Given the description of an element on the screen output the (x, y) to click on. 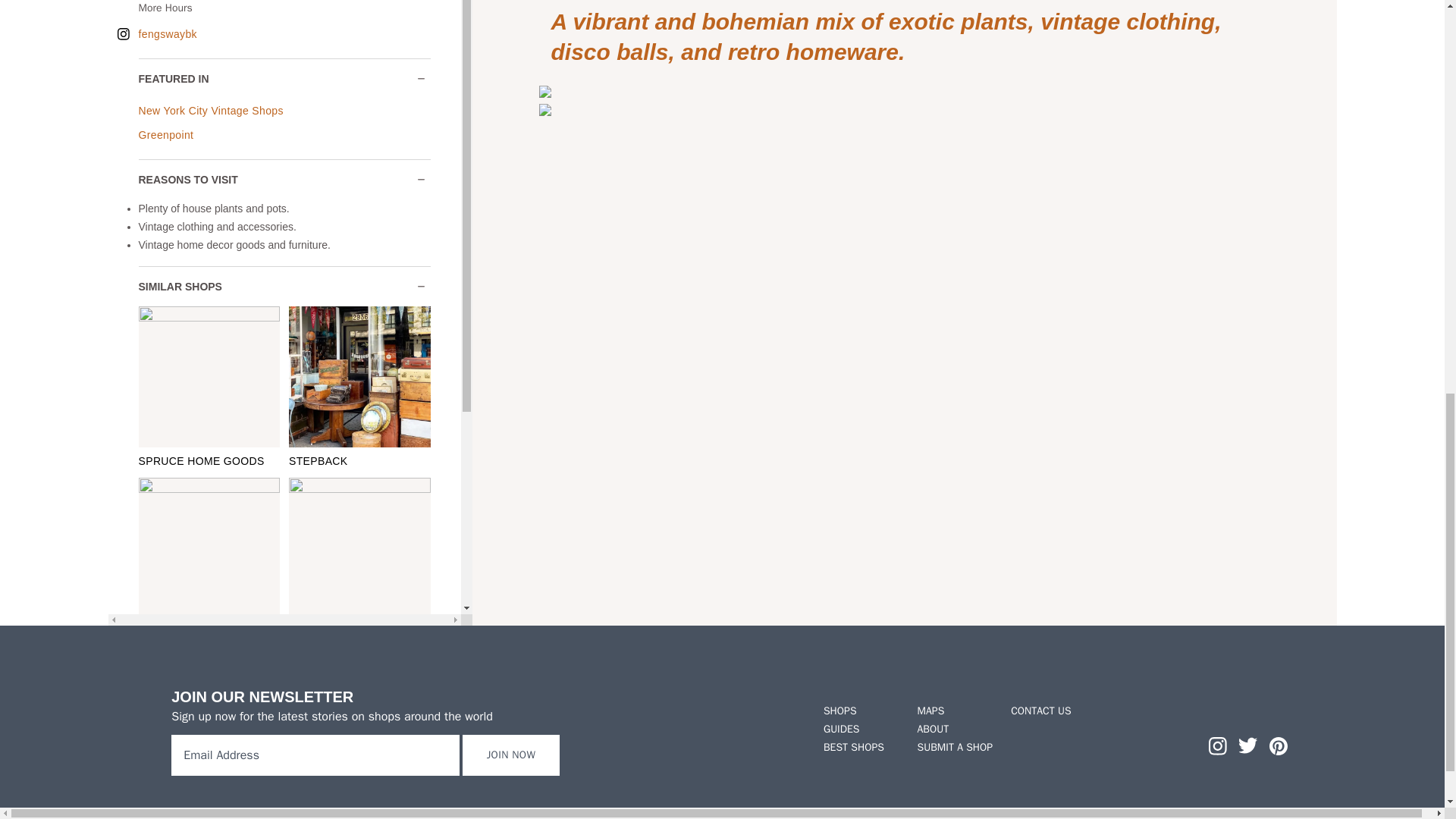
FEATURED IN (283, 78)
GUIDES (861, 729)
SIMILAR SHOPS (283, 286)
More Hours (259, 7)
SUBMIT A SHOP (954, 747)
ABOUT (954, 729)
JOIN NOW (511, 754)
BEST SHOPS (861, 747)
MAPS (954, 711)
New York City Vintage Shops (210, 110)
